Given the description of an element on the screen output the (x, y) to click on. 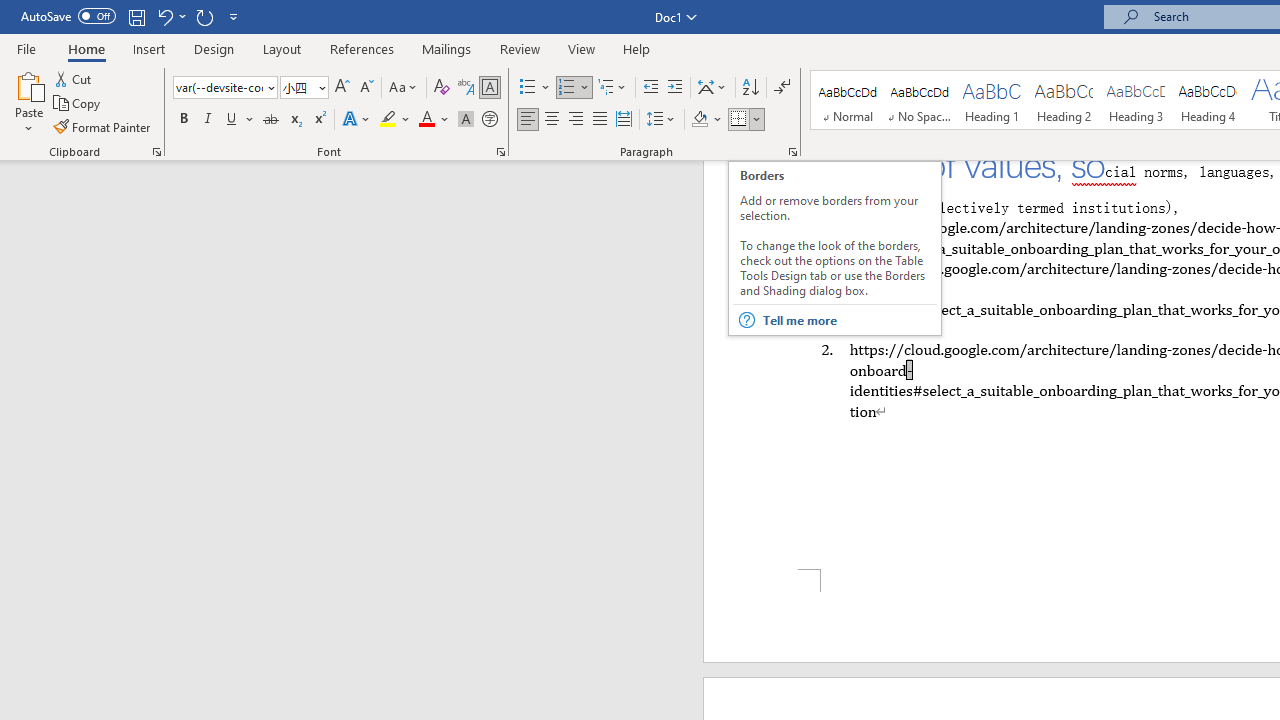
Undo Border Bottom (164, 15)
Font Color Automatic (426, 119)
Heading 3 (1135, 100)
